Given the description of an element on the screen output the (x, y) to click on. 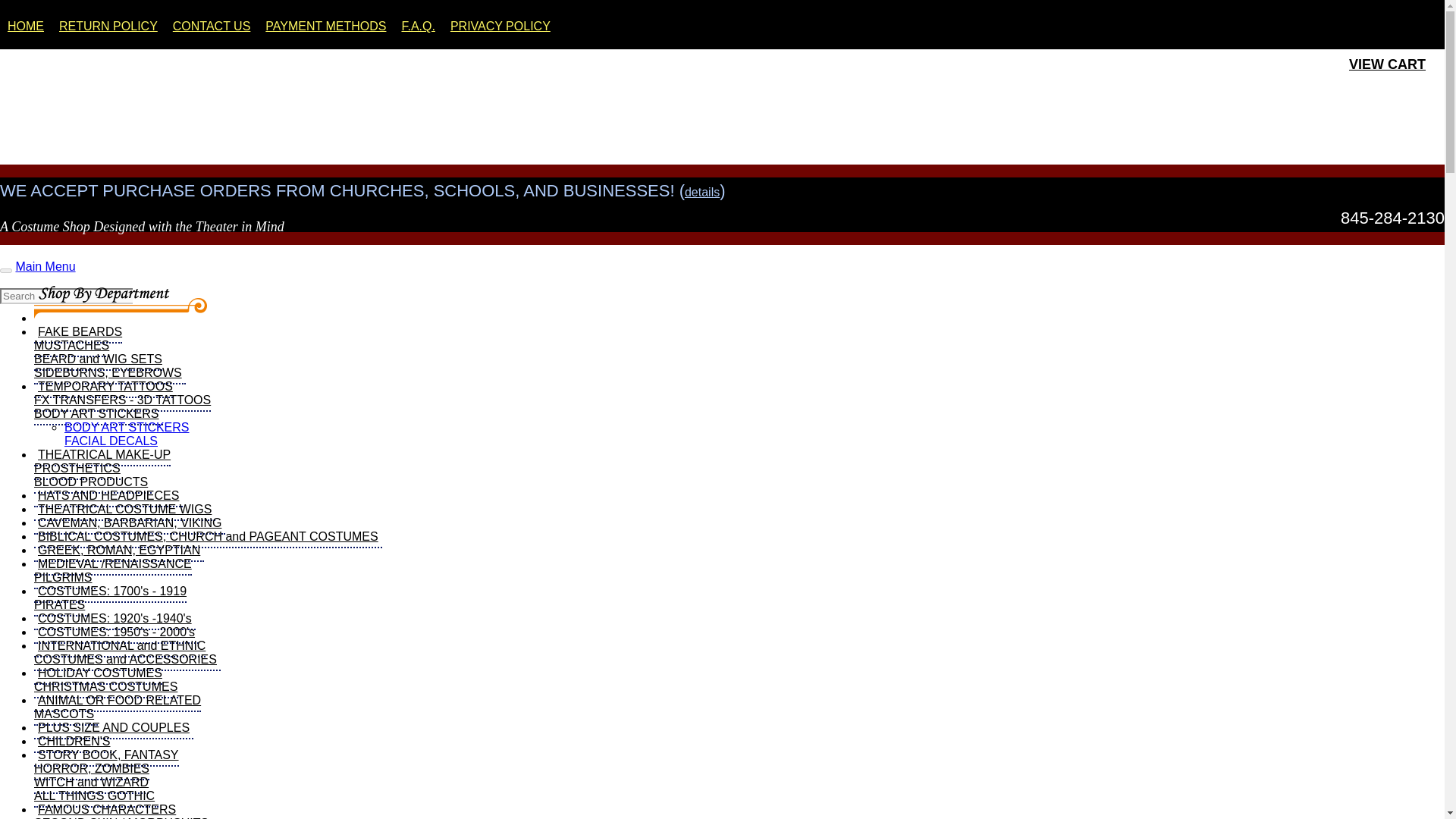
RETURN POLICY (112, 25)
THEATRICAL COSTUME WIGS (124, 509)
PAYMENT METHODS (328, 25)
VIEW CART (101, 468)
F.A.Q. (1387, 64)
CAVEMAN, BARBARIAN, VIKING (421, 25)
HATS AND HEADPIECES (106, 680)
